Given the description of an element on the screen output the (x, y) to click on. 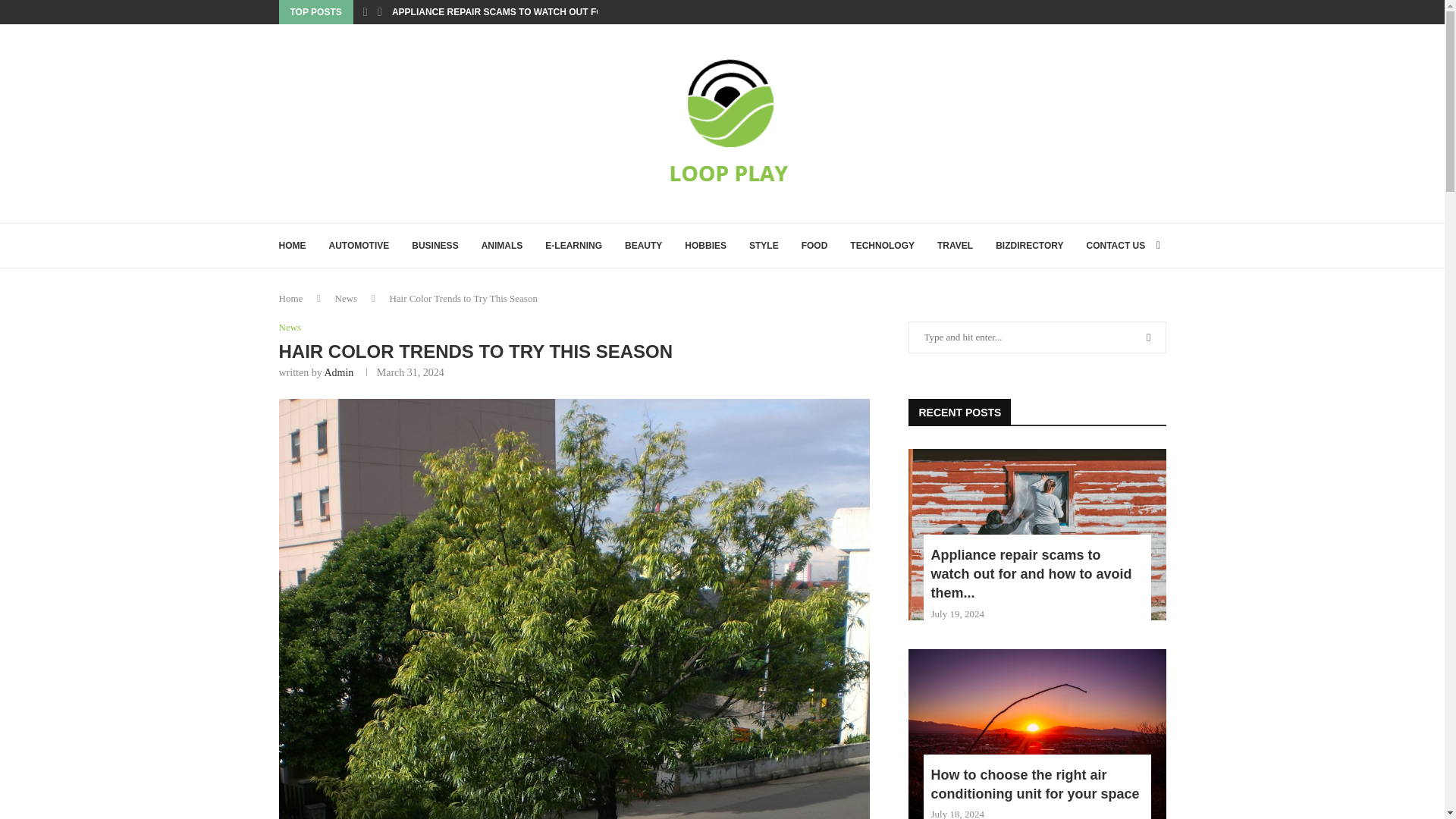
CONTACT US (1115, 245)
APPLIANCE REPAIR SCAMS TO WATCH OUT FOR AND... (515, 12)
ANIMALS (501, 245)
UNDERSTANDING THE IMPORTANCE OF REGULAR HEALTH CHECK-UPS (234, 12)
BUSINESS (435, 245)
Home (290, 297)
HOBBIES (705, 245)
E-LEARNING (573, 245)
AUTOMOTIVE (359, 245)
TECHNOLOGY (882, 245)
BIZDIRECTORY (1028, 245)
